Given the description of an element on the screen output the (x, y) to click on. 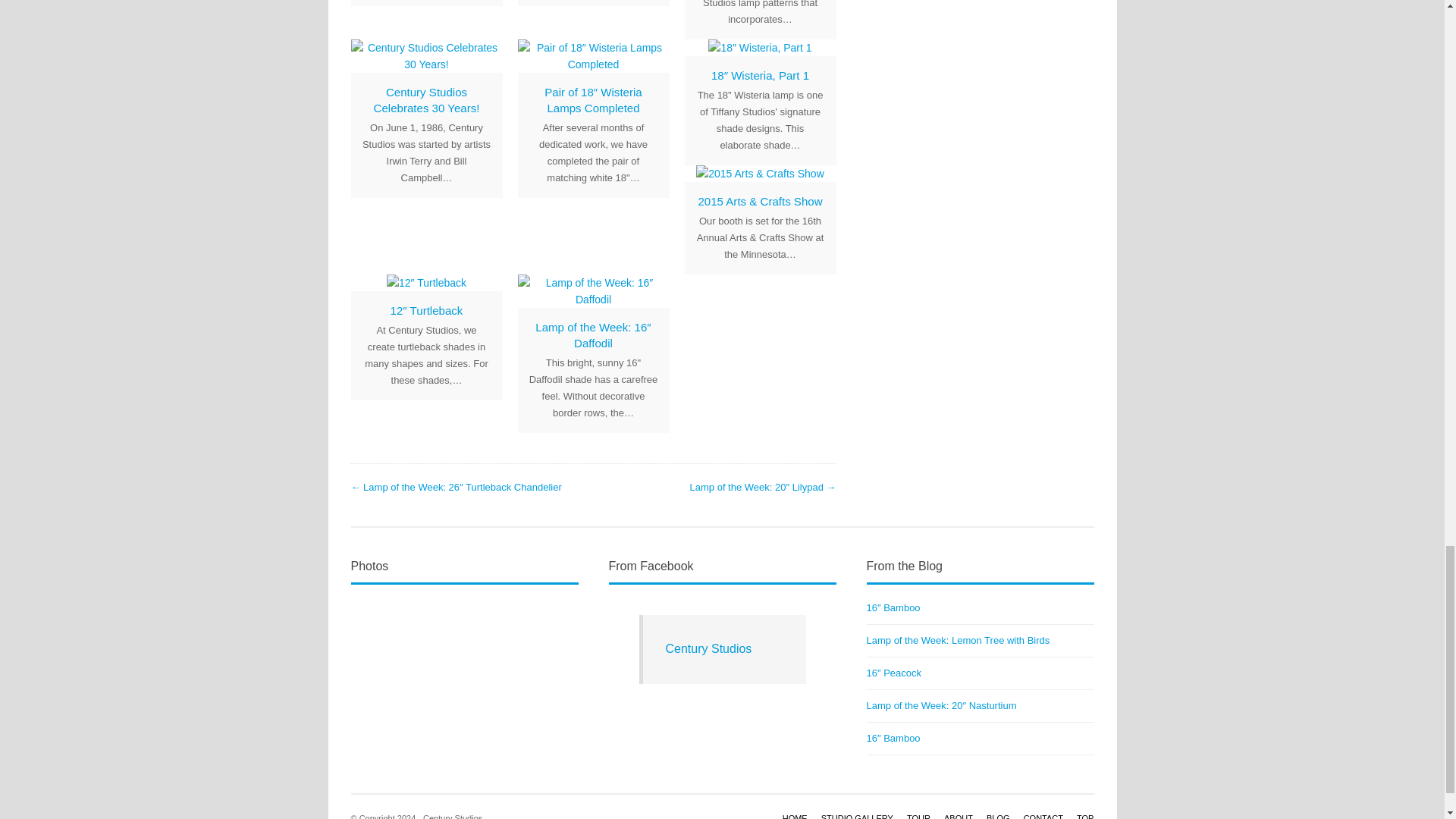
Century Studios Celebrates 30 Years! (427, 99)
Century Studios Celebrates 30 Years! (426, 55)
Century Studios Celebrates 30 Years! (427, 99)
